Given the description of an element on the screen output the (x, y) to click on. 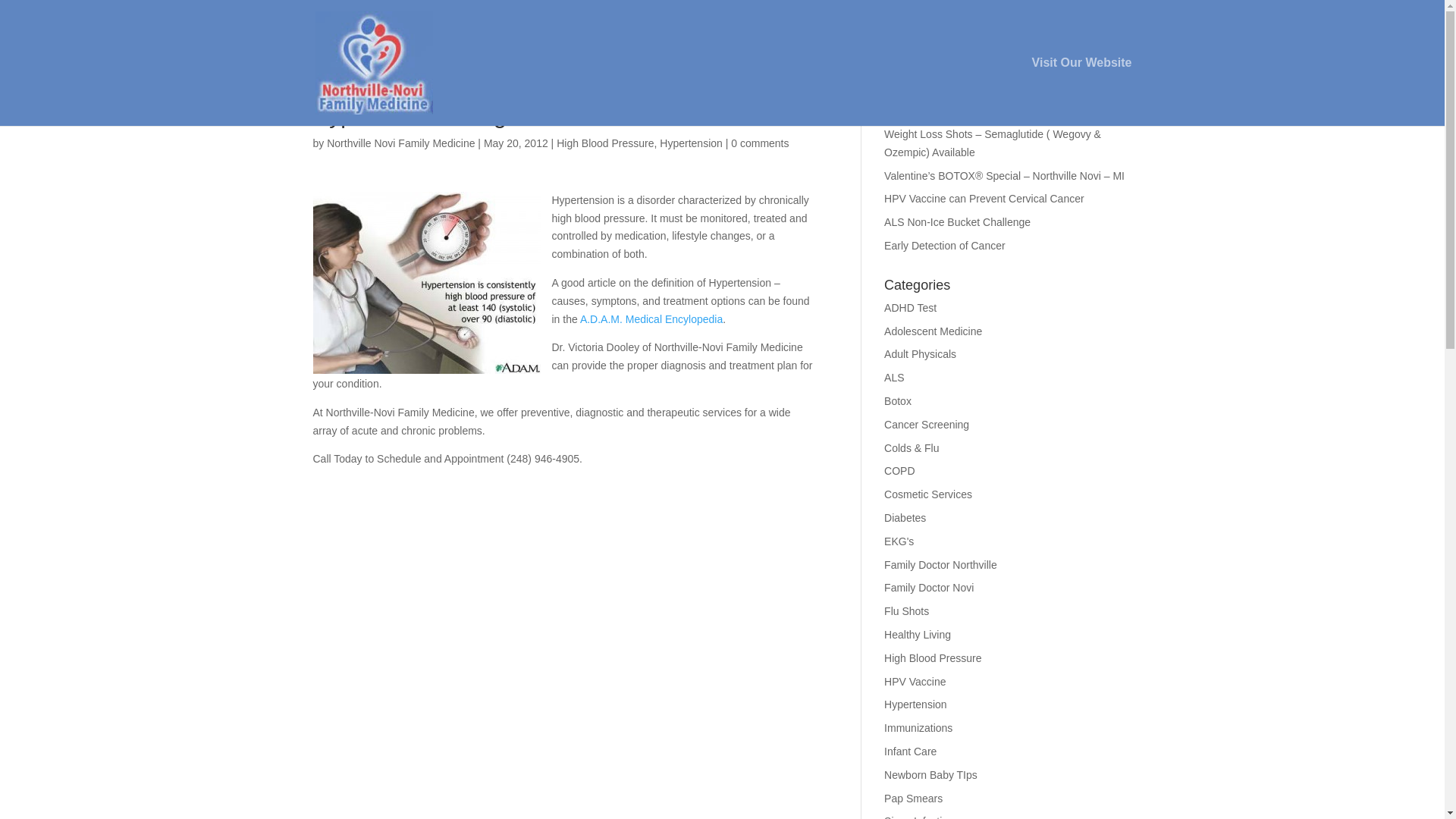
Family Doctor Northville (940, 564)
Hypertension (915, 704)
ALS Non-Ice Bucket Challenge (956, 222)
Diabetes (904, 517)
Family Doctor Novi (928, 587)
0 comments (759, 143)
ALS (893, 377)
hypertension (426, 282)
Cancer Screening (926, 424)
Cosmetic Services (927, 494)
